Given the description of an element on the screen output the (x, y) to click on. 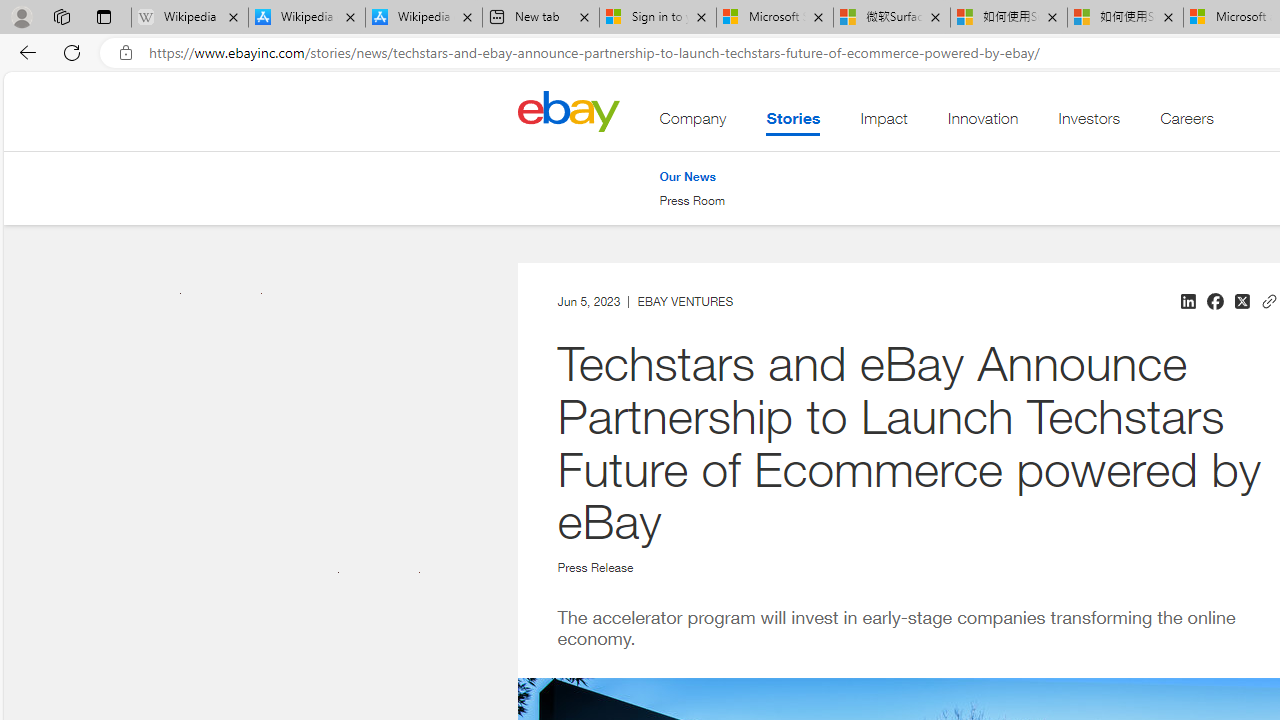
Innovation (982, 123)
Share on LinkedIn (1187, 301)
Investors (1089, 123)
Our News (687, 176)
Stories (792, 123)
Stories . This is the current section. (792, 123)
Share on X (Twitter) (1241, 301)
Company (693, 123)
Impact (883, 123)
Press Room (692, 201)
